Given the description of an element on the screen output the (x, y) to click on. 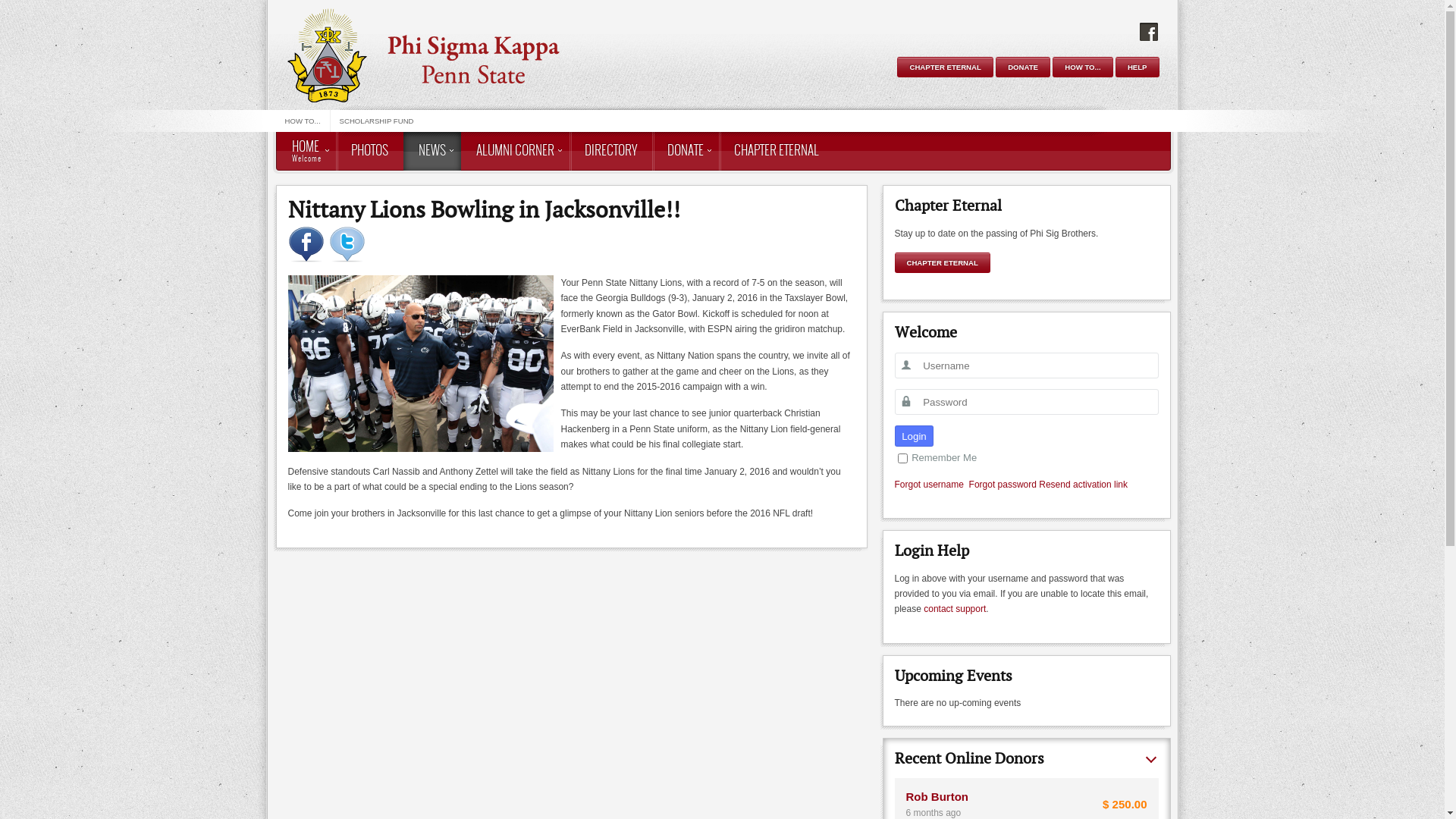
HOW TO... Element type: text (1082, 66)
CHAPTER ETERNAL Element type: text (942, 262)
Rob Burton Element type: text (936, 796)
HELP Element type: text (1137, 66)
Resend activation link Element type: text (1082, 484)
Forgot username Element type: text (928, 484)
Nittany Lions Bowling in Jacksonville!! Element type: text (484, 209)
Login Element type: text (914, 435)
ALUMNI CORNER Element type: text (515, 150)
PHOTOS Element type: text (368, 150)
DIRECTORY Element type: text (609, 150)
SCHOLARSHIP FUND Element type: text (376, 120)
CHAPTER ETERNAL Element type: text (944, 66)
HOME
Welcome Element type: text (305, 150)
NEWS Element type: text (432, 150)
contact support Element type: text (954, 608)
Forgot password Element type: text (1002, 484)
DONATE Element type: text (685, 150)
HOW TO... Element type: text (302, 120)
CHAPTER ETERNAL Element type: text (776, 150)
DONATE Element type: text (1022, 66)
